Given the description of an element on the screen output the (x, y) to click on. 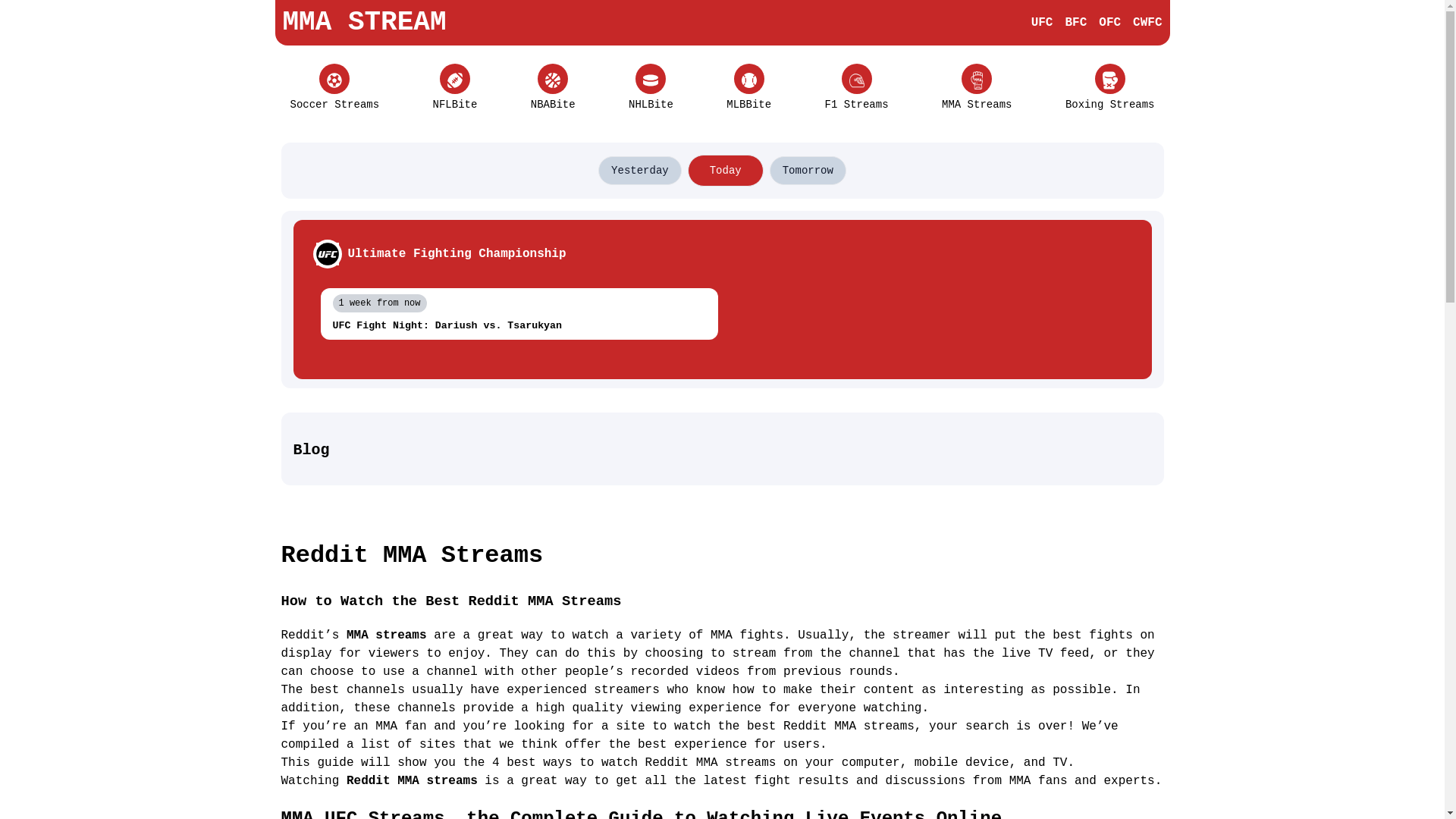
UFC Element type: text (1042, 22)
Soccer Streams Element type: text (334, 87)
CWFC Element type: text (1146, 22)
Blog Element type: text (721, 450)
MLBBite Element type: text (748, 87)
UFC Fight Night: Dariush vs. Tsarukyan Element type: text (518, 325)
Today Element type: text (725, 170)
BFC Element type: text (1075, 22)
MMA Streams Element type: text (976, 87)
NFLBite Element type: text (454, 87)
Tomorrow Element type: text (807, 170)
NHLBite Element type: text (650, 87)
Yesterday Element type: text (639, 170)
OFC Element type: text (1109, 22)
1 week from now
UFC Fight Night: Dariush vs. Tsarukyan Element type: text (518, 313)
NBABite Element type: text (552, 87)
MMA STREAM Element type: text (363, 22)
F1 Streams Element type: text (856, 87)
Boxing Streams Element type: text (1110, 87)
